Given the description of an element on the screen output the (x, y) to click on. 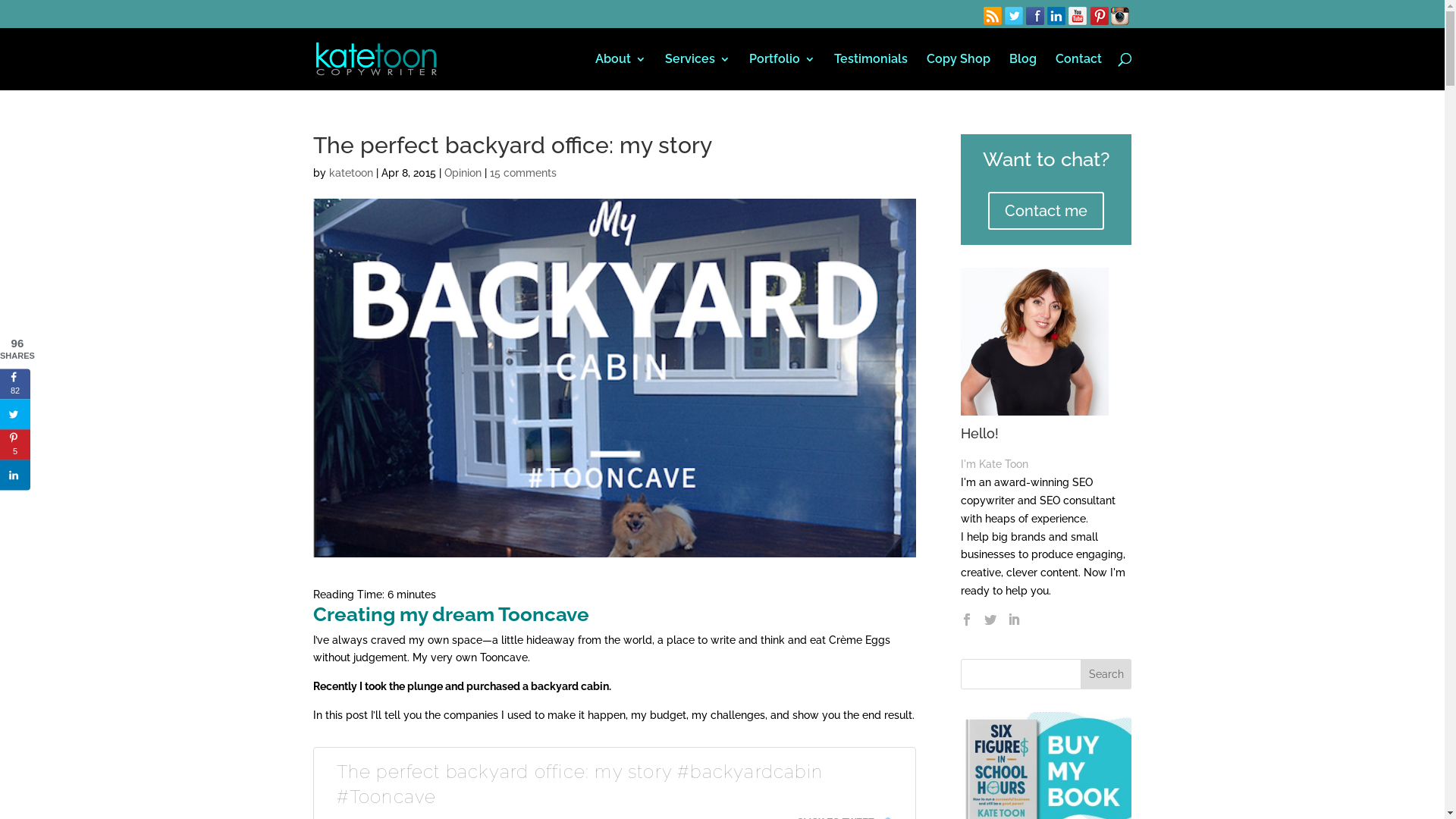
Share on Twitter Element type: hover (15, 413)
Testimonials Element type: text (870, 71)
Search Element type: text (1106, 673)
About Element type: text (619, 71)
Share on LinkedIn Element type: hover (15, 474)
Opinion Element type: text (462, 172)
5 Element type: text (15, 444)
Contact Element type: text (1078, 71)
Blog Element type: text (1021, 71)
katetoon Element type: text (351, 172)
Contact me Element type: text (1046, 210)
Copy Shop Element type: text (958, 71)
82 Element type: text (15, 383)
15 comments Element type: text (522, 172)
Portfolio Element type: text (782, 71)
Services Element type: text (696, 71)
